Given the description of an element on the screen output the (x, y) to click on. 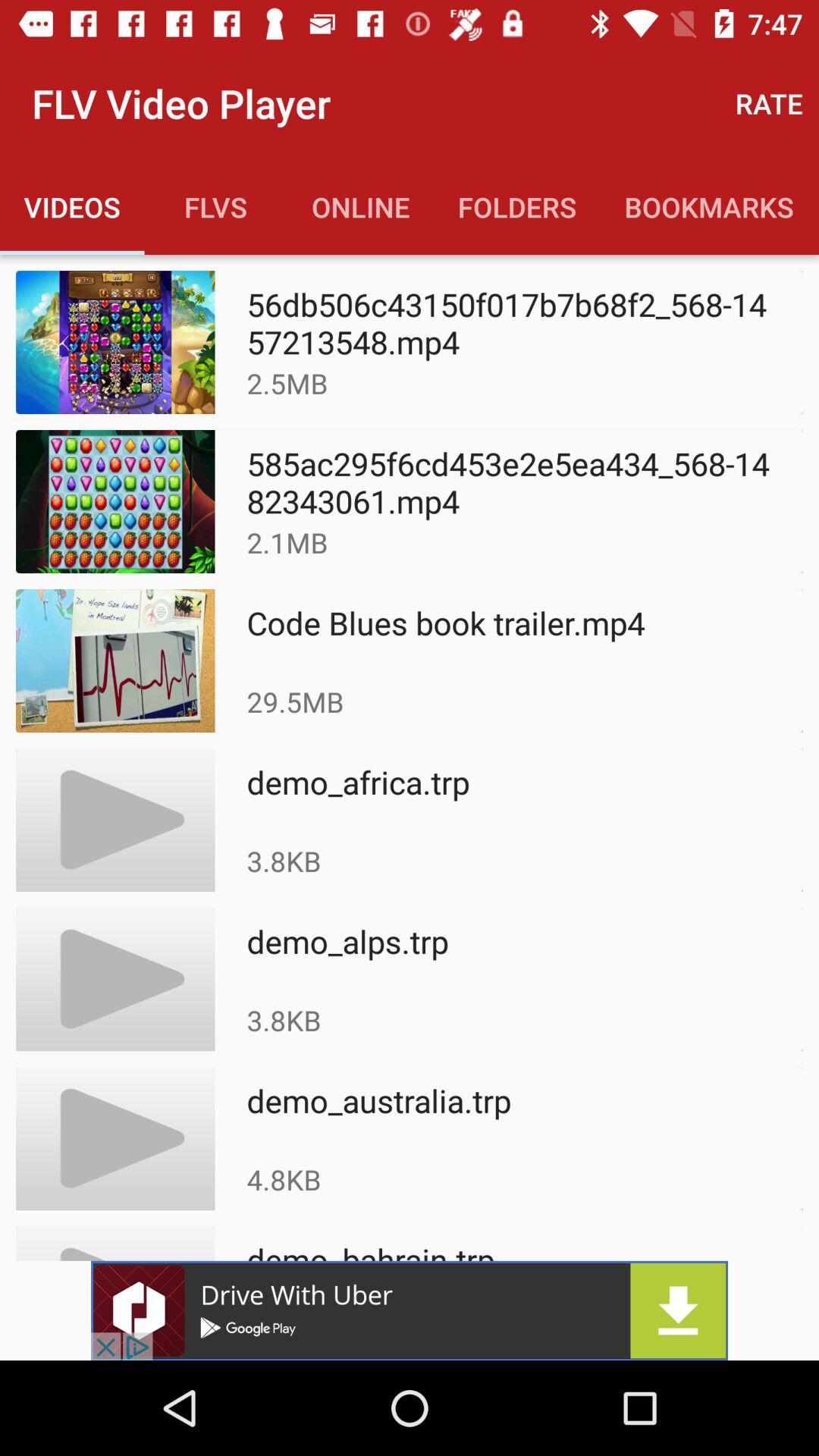
open advertisement (409, 1310)
